Given the description of an element on the screen output the (x, y) to click on. 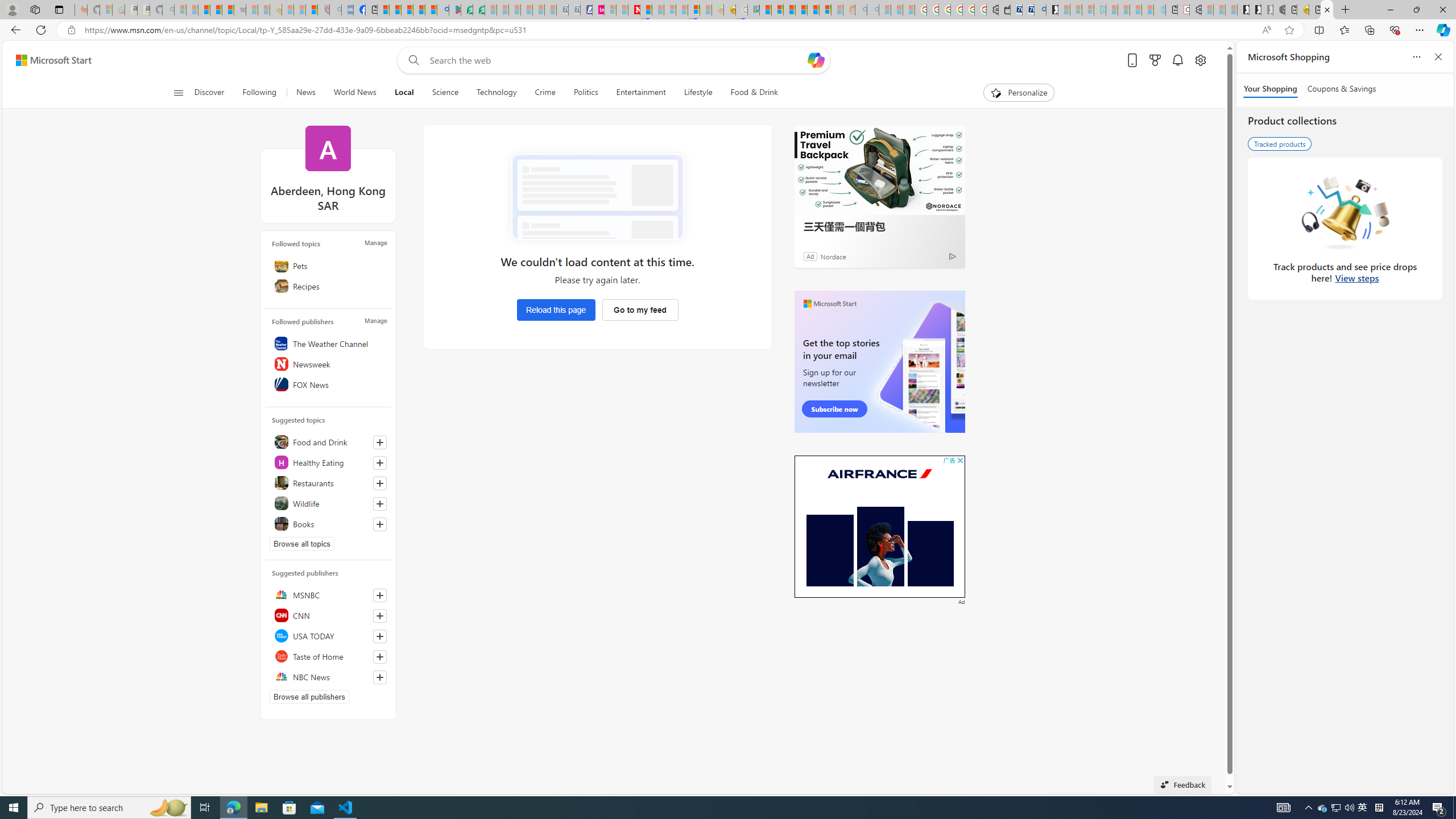
Entertainment (641, 92)
Recipes (327, 285)
Bing Real Estate - Home sales and rental listings (1040, 9)
Utah sues federal government - Search - Sleeping (872, 9)
Cheap Car Rentals - Save70.com - Sleeping (562, 9)
